Given the description of an element on the screen output the (x, y) to click on. 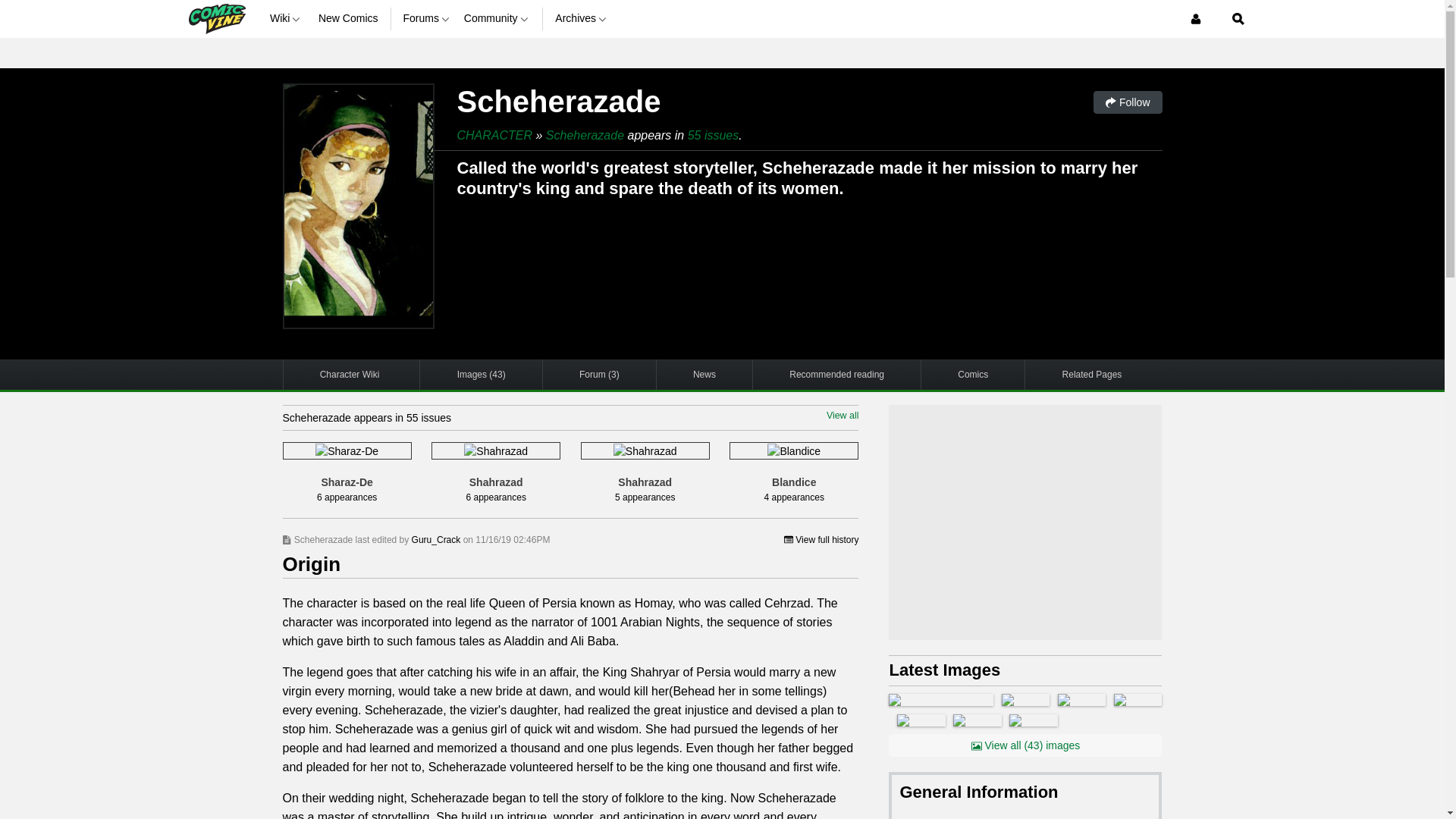
Forums (427, 18)
Wiki (287, 18)
Community (497, 18)
Comic Vine (215, 18)
New Comics (348, 18)
